Given the description of an element on the screen output the (x, y) to click on. 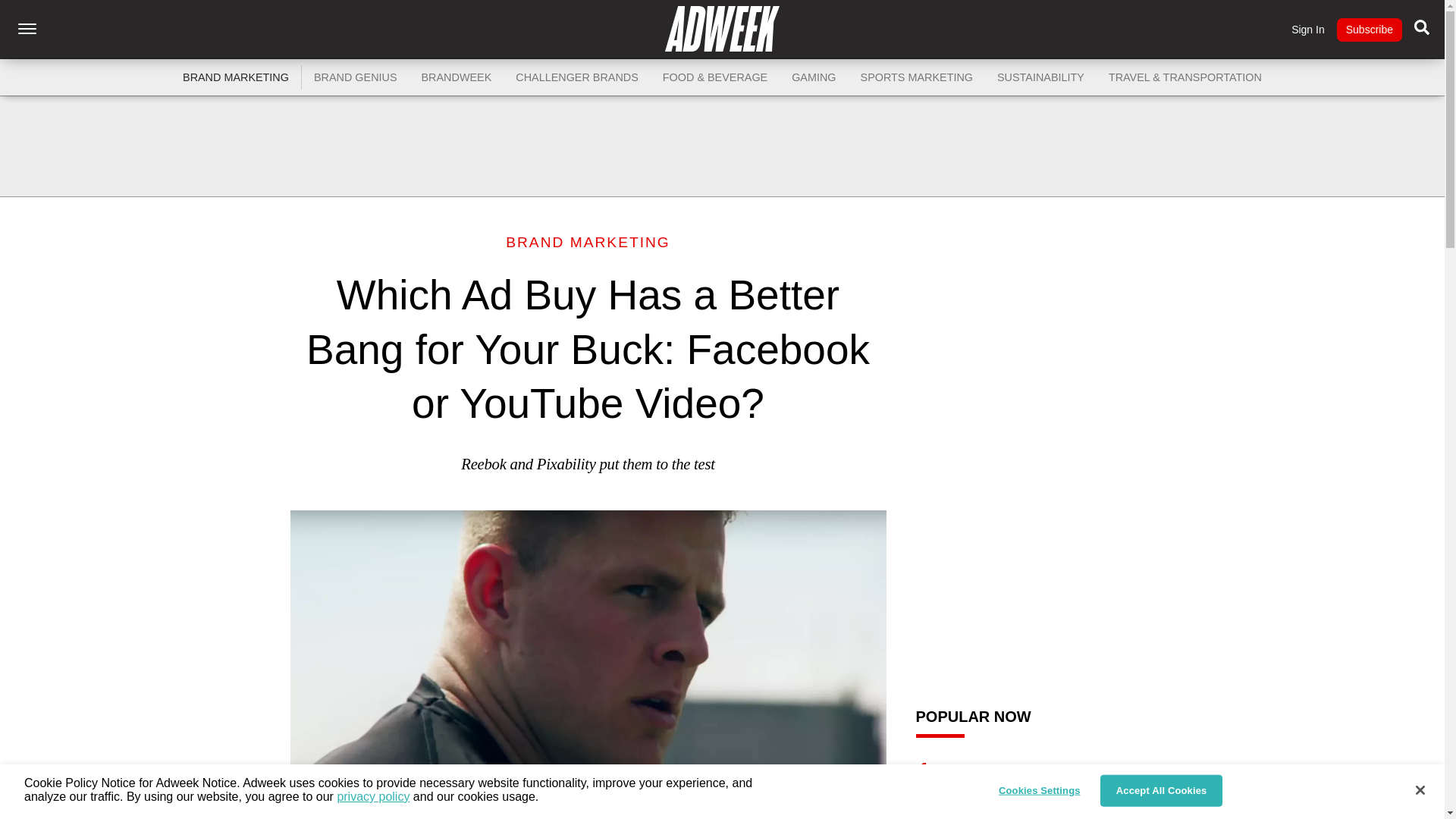
Subscribe (1369, 29)
Toggle Main Menu (26, 28)
BRANDWEEK (456, 77)
GAMING (812, 77)
3rd party ad content (721, 146)
Sign In (1307, 29)
SPORTS MARKETING (916, 77)
BRAND MARKETING (587, 242)
SUSTAINABILITY (1040, 77)
CHALLENGER BRANDS (576, 77)
BRAND GENIUS (355, 77)
BRAND MARKETING (235, 77)
